Given the description of an element on the screen output the (x, y) to click on. 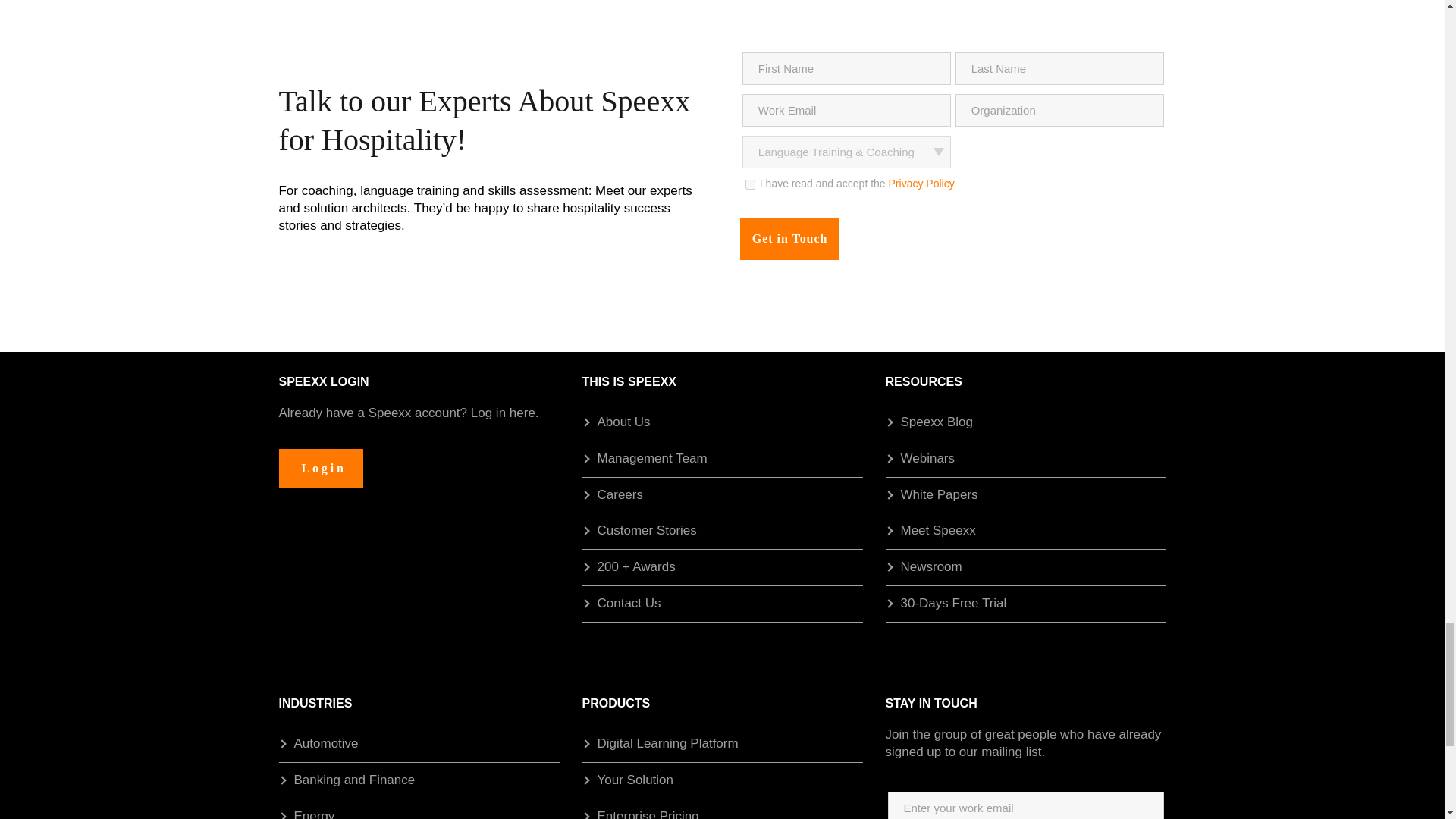
True (750, 184)
